Given the description of an element on the screen output the (x, y) to click on. 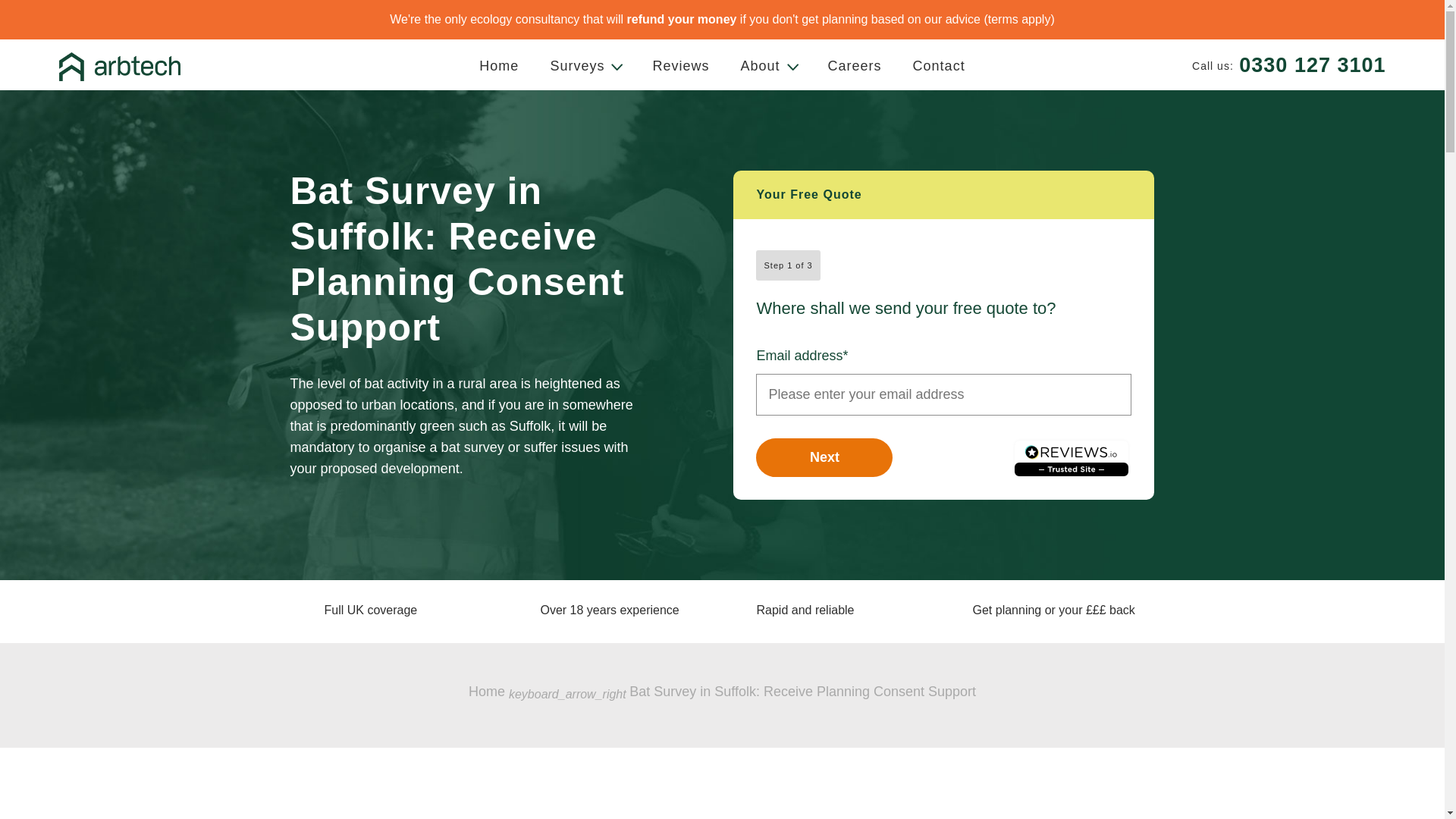
Careers (854, 64)
Arbtech (119, 66)
Surveys (585, 64)
Contact (939, 64)
Home (486, 691)
Reviews (680, 64)
terms apply (1019, 19)
About (767, 64)
Next (823, 457)
0330 127 3101 (1312, 65)
